Given the description of an element on the screen output the (x, y) to click on. 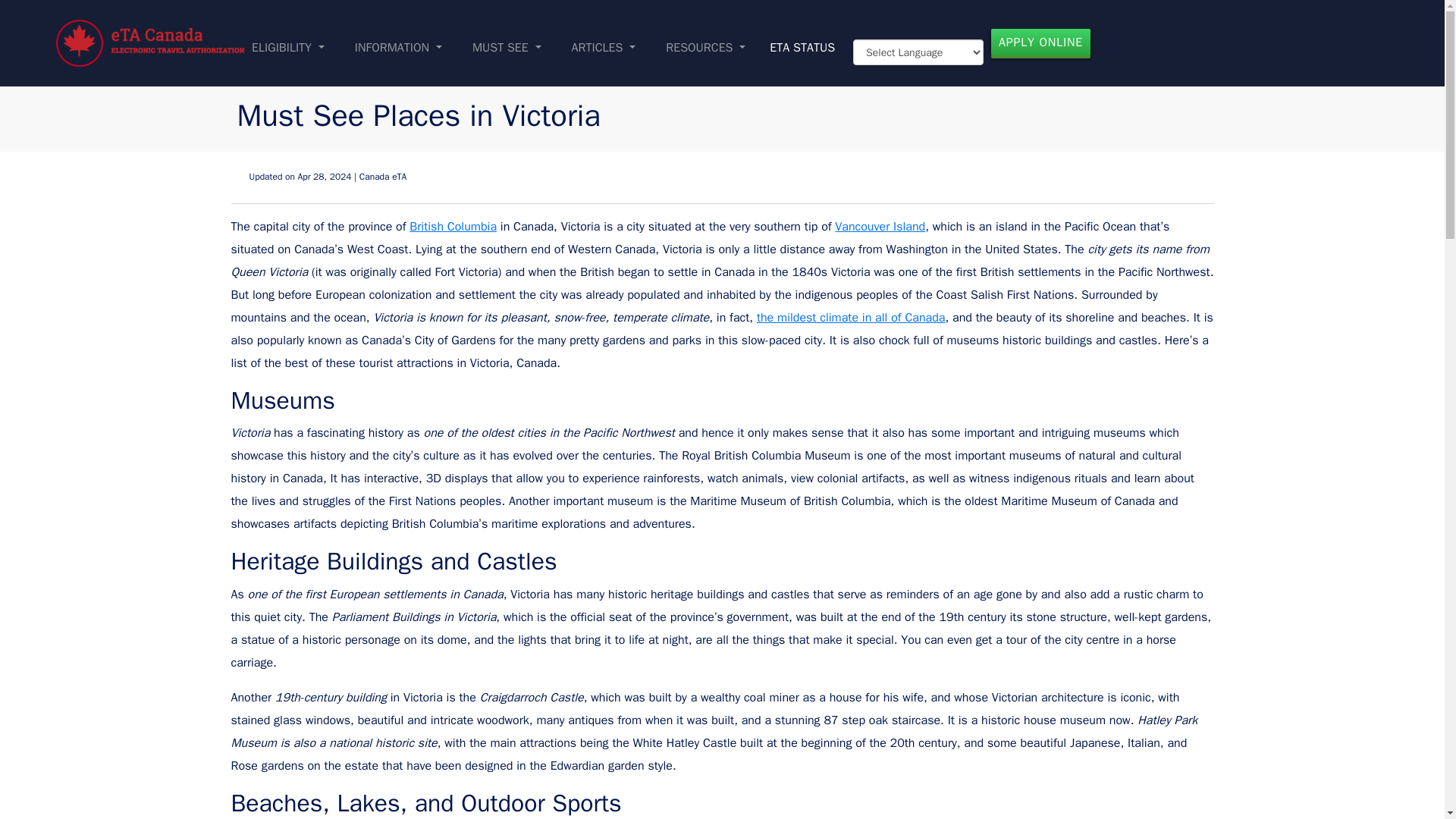
INFORMATION (398, 47)
MUST SEE (506, 47)
ELIGIBILITY (288, 47)
Canada Visa Online (151, 42)
